Given the description of an element on the screen output the (x, y) to click on. 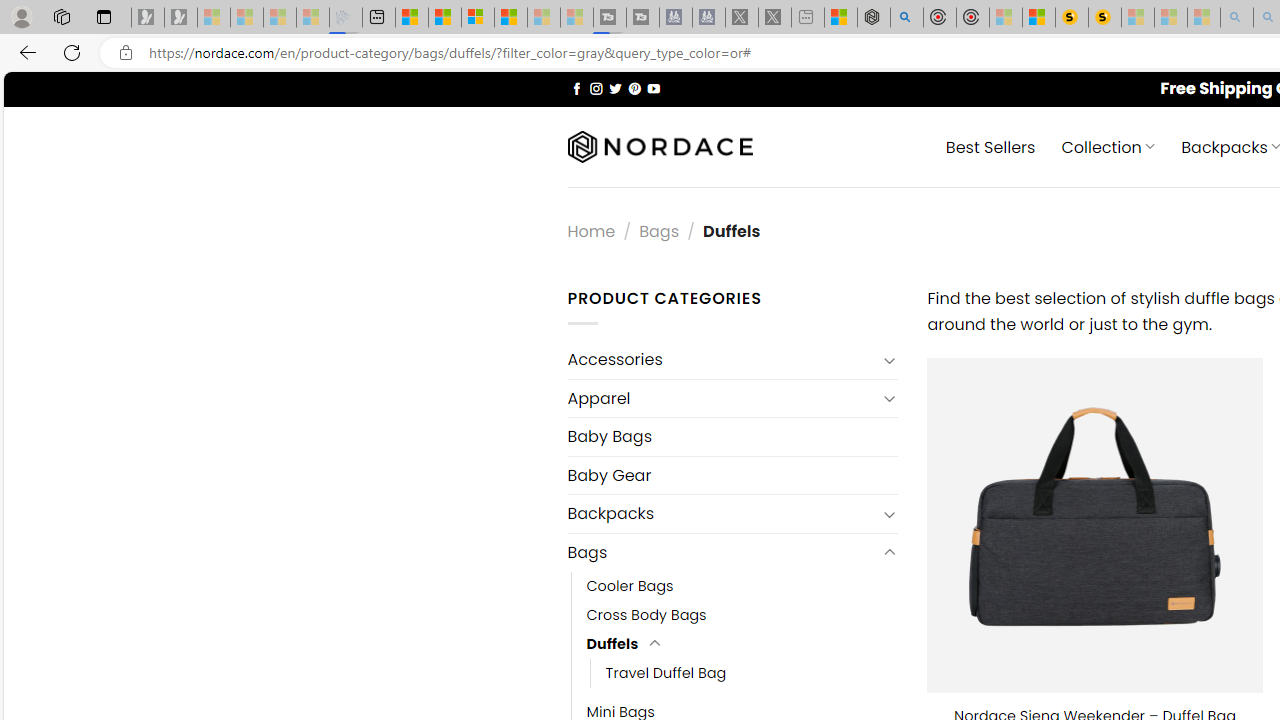
Accessories (721, 359)
Apparel (721, 398)
Travel Duffel Bag (753, 673)
  Best Sellers (989, 146)
